Given the description of an element on the screen output the (x, y) to click on. 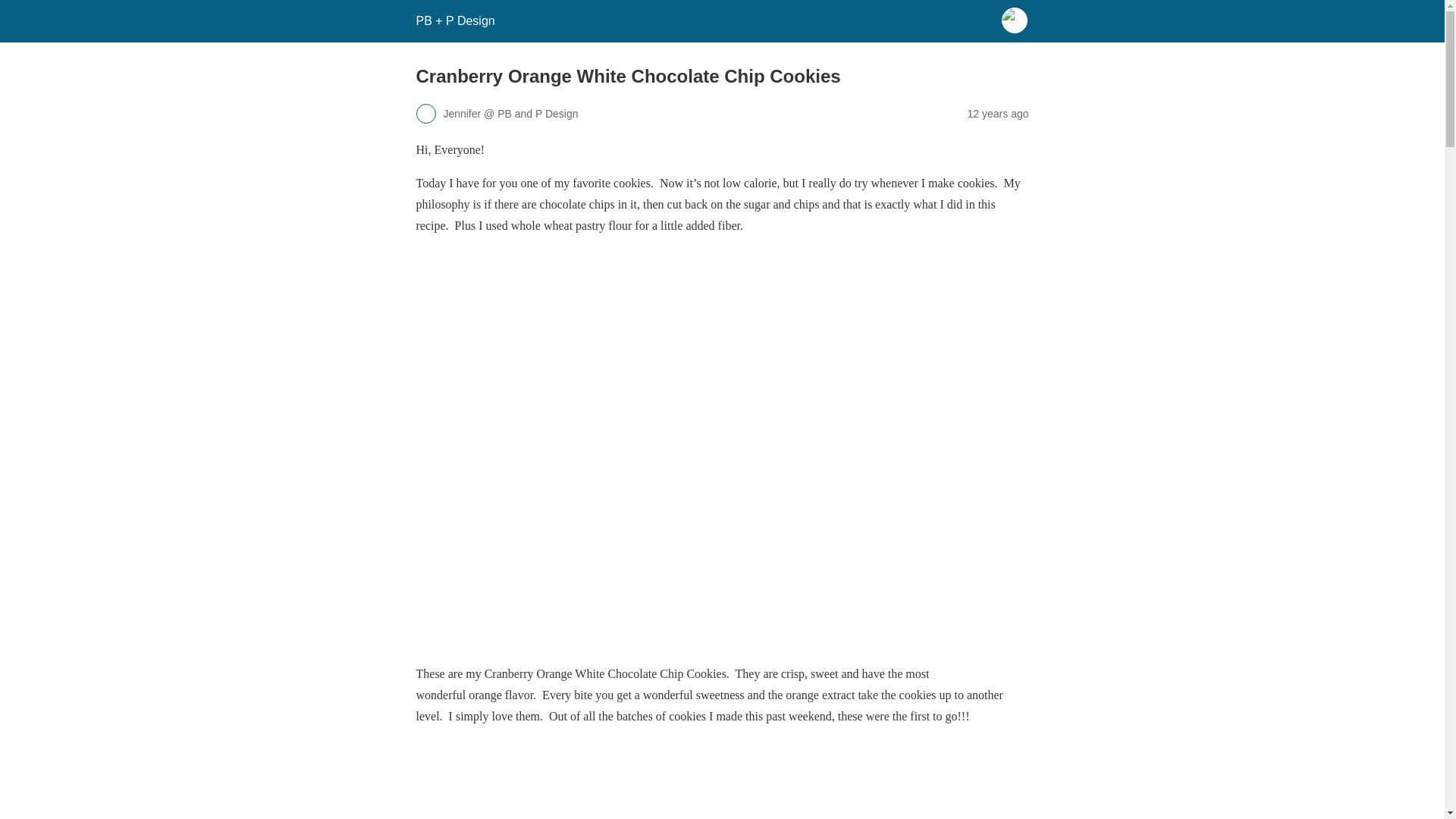
White Chocolate Cranberry Orange Cookies (715, 779)
